Given the description of an element on the screen output the (x, y) to click on. 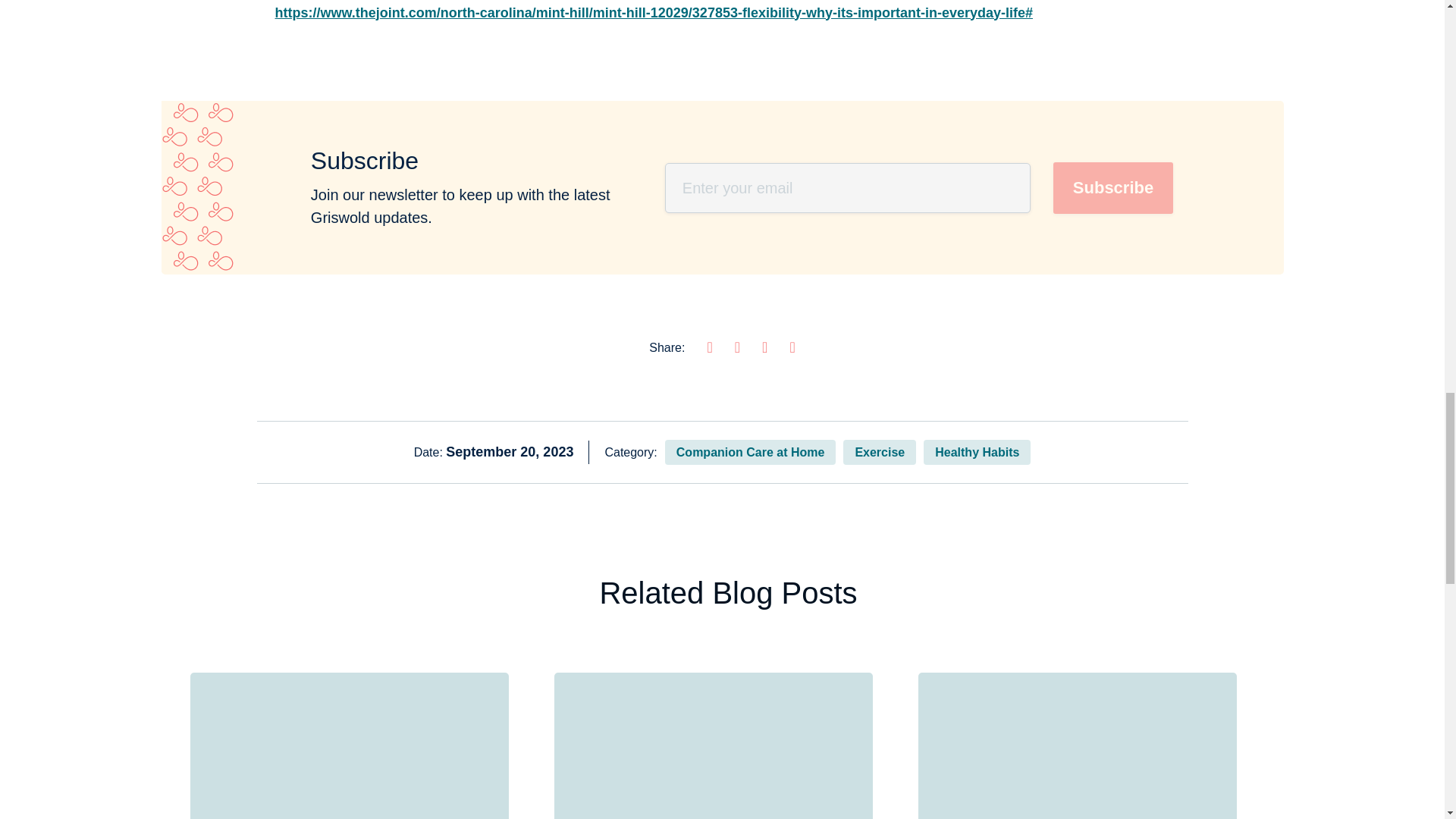
Subscribe (1112, 187)
Companion Care at Home (750, 452)
Subscribe (1112, 187)
